Given the description of an element on the screen output the (x, y) to click on. 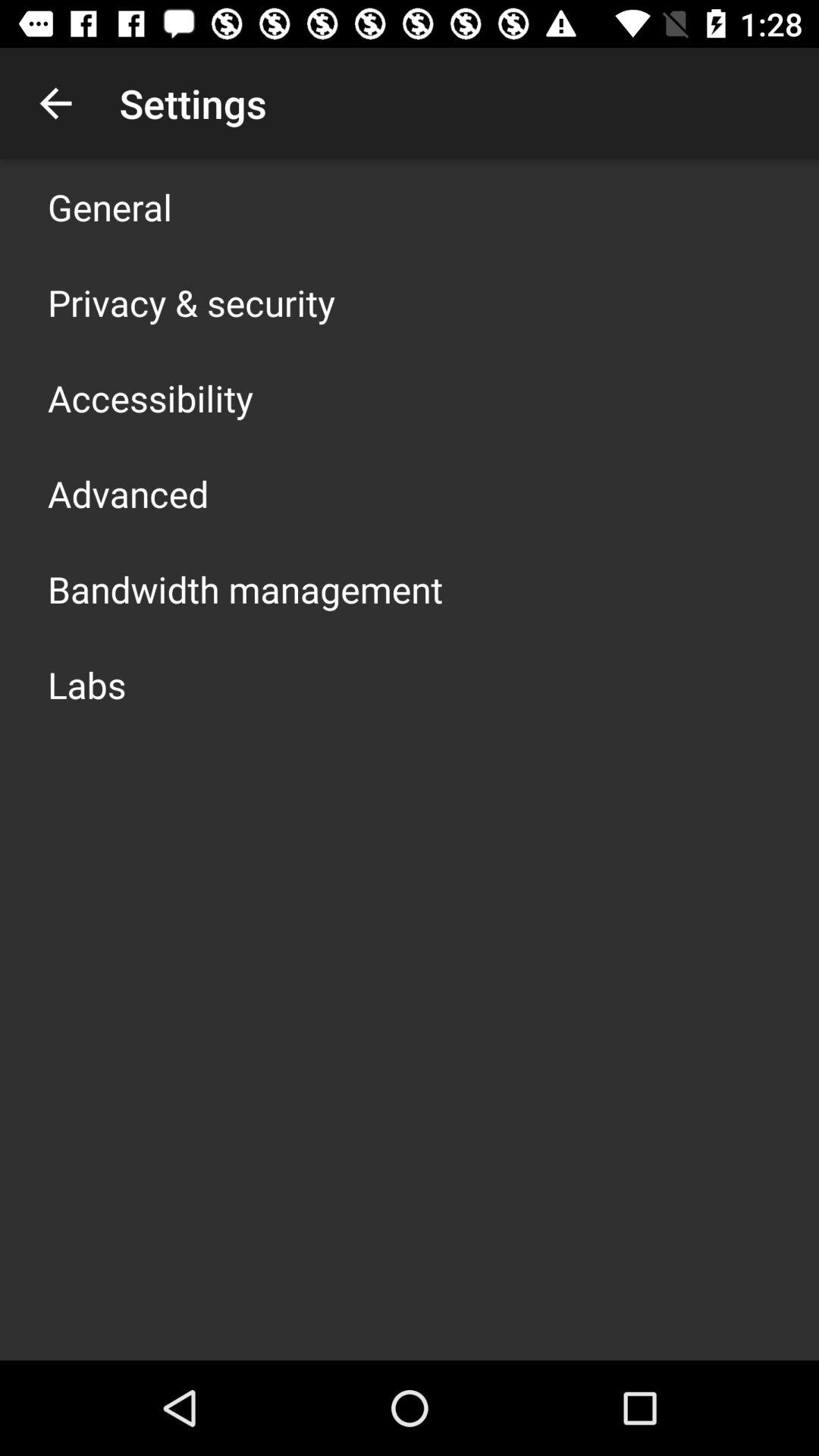
turn on item above bandwidth management icon (127, 493)
